Given the description of an element on the screen output the (x, y) to click on. 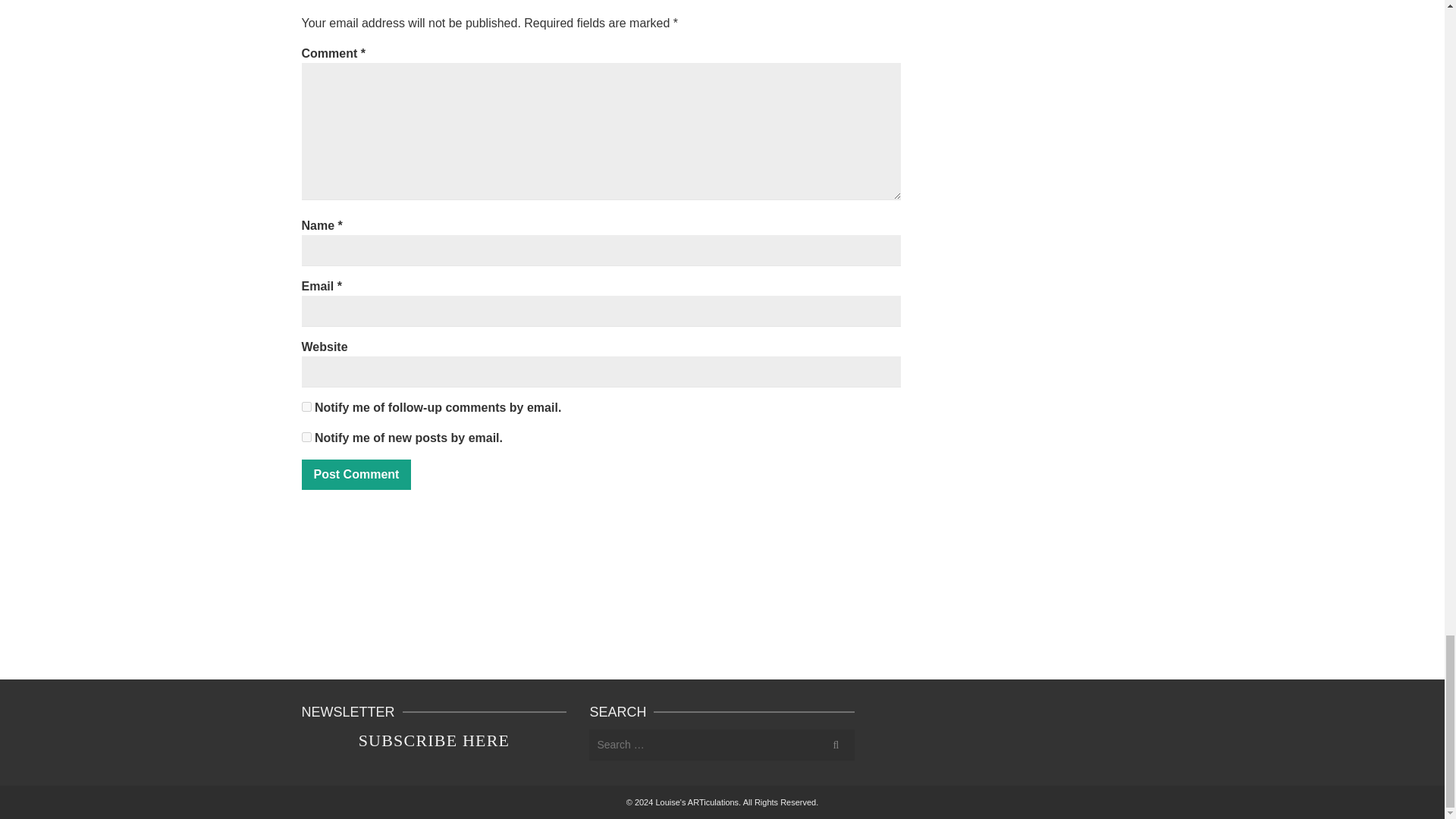
subscribe (306, 437)
Post Comment (356, 474)
subscribe (306, 406)
